Given the description of an element on the screen output the (x, y) to click on. 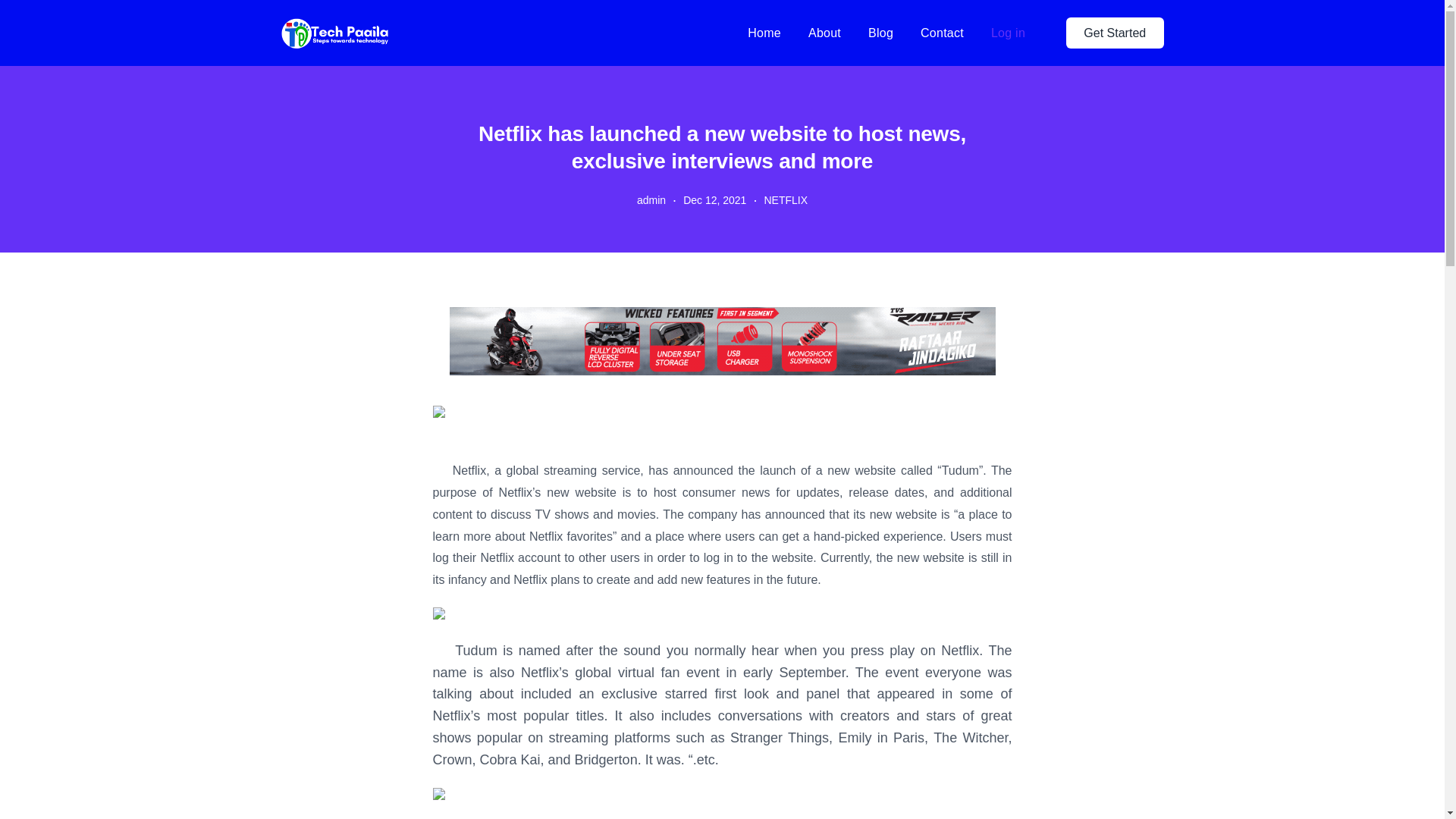
Home (764, 33)
Get Started (1114, 32)
Contact (941, 33)
NETFLIX (785, 200)
Log in (1008, 32)
Blog (880, 33)
About (824, 33)
